Given the description of an element on the screen output the (x, y) to click on. 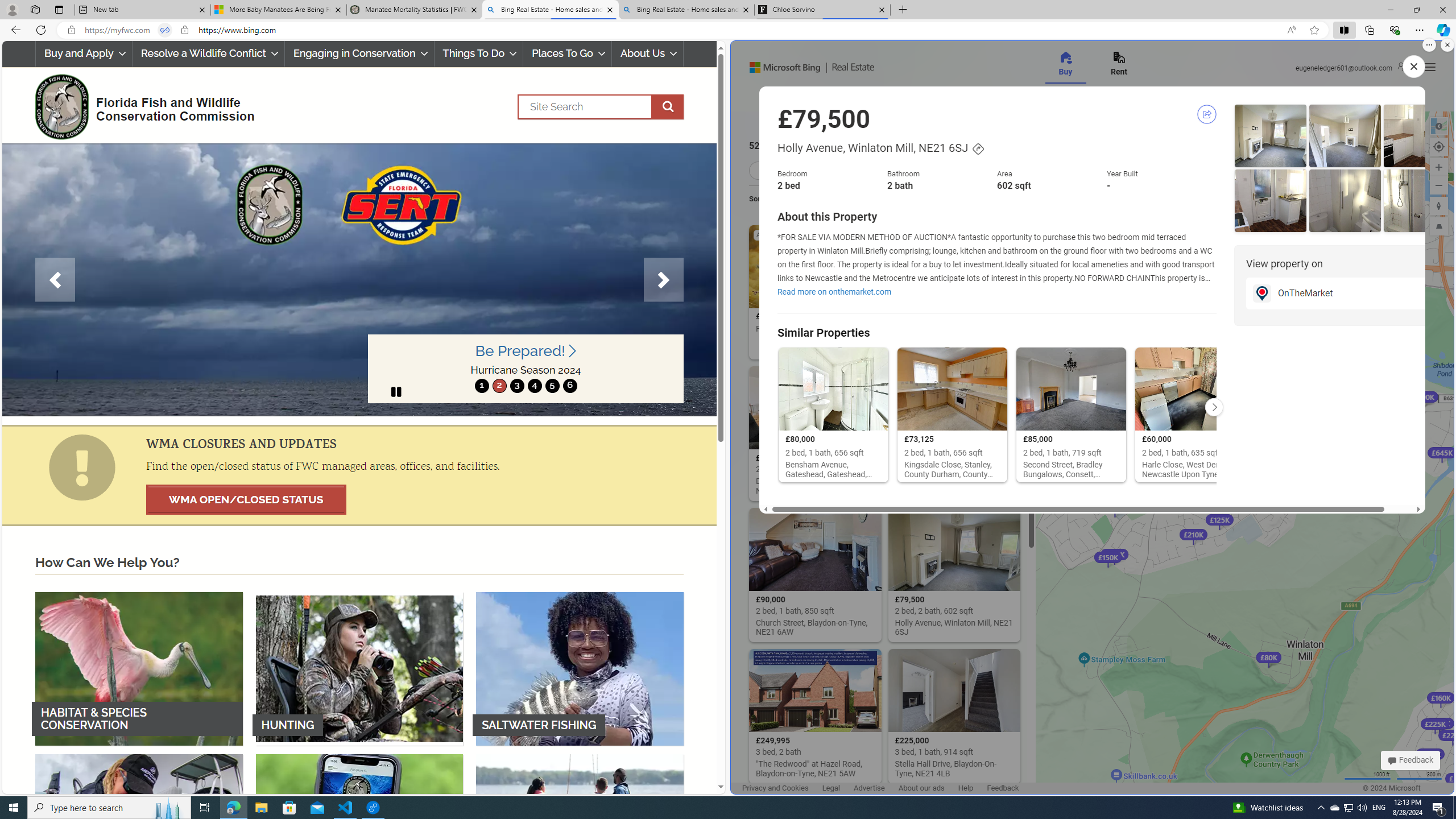
Resolve a Wildlife Conflict (208, 53)
Close split screen. (1447, 45)
move to slide 4 (534, 385)
4 (534, 385)
Chloe Sorvino (822, 9)
Places To Go (566, 53)
